Given the description of an element on the screen output the (x, y) to click on. 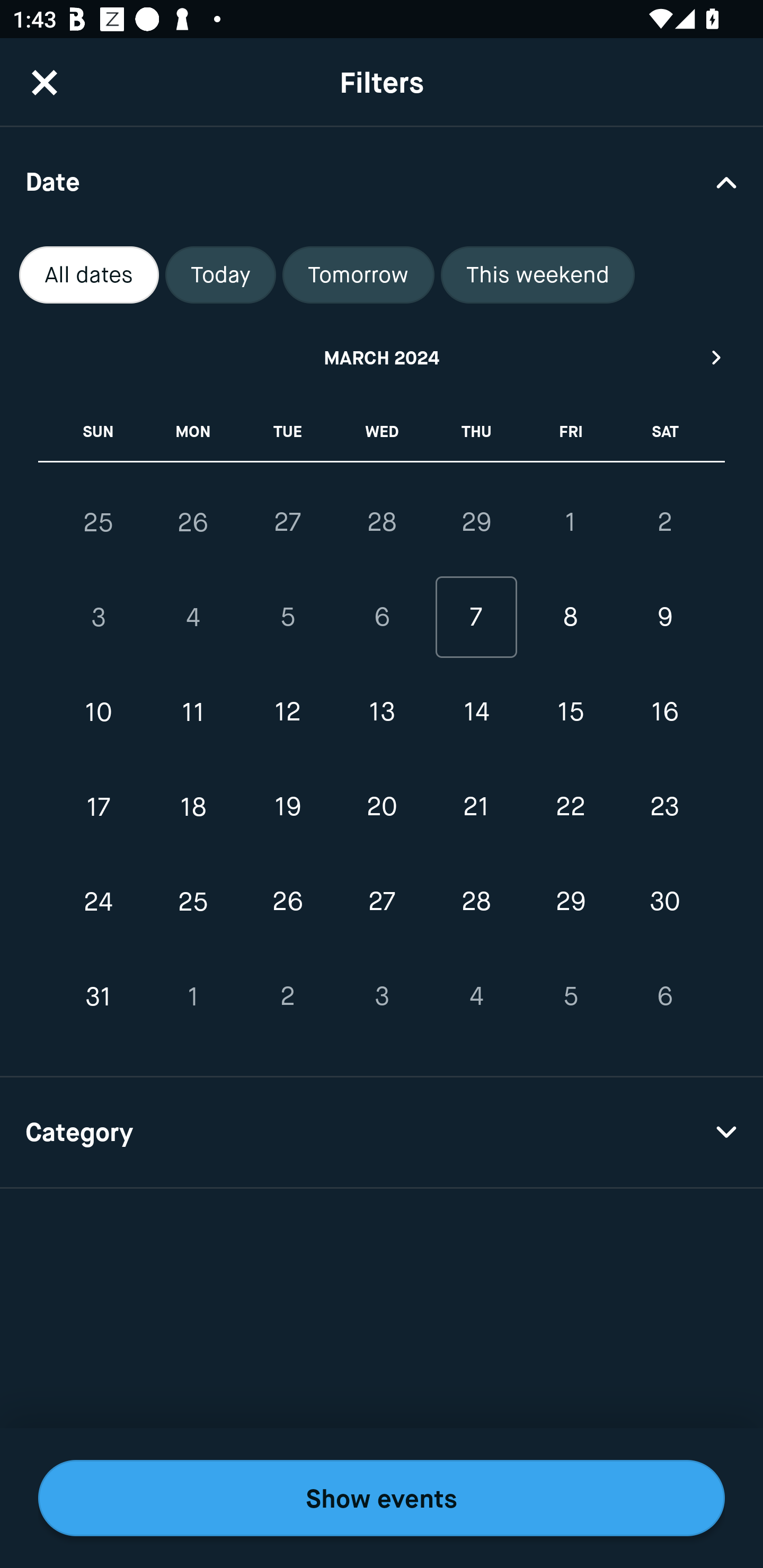
CloseButton (44, 82)
Date Drop Down Arrow (381, 181)
All dates (88, 274)
Today (220, 274)
Tomorrow (358, 274)
This weekend (537, 274)
Next (717, 357)
25 (98, 522)
26 (192, 522)
27 (287, 522)
28 (381, 522)
29 (475, 522)
1 (570, 522)
2 (664, 522)
3 (98, 617)
4 (192, 617)
5 (287, 617)
6 (381, 617)
7 (475, 617)
8 (570, 617)
9 (664, 617)
10 (98, 711)
11 (192, 711)
12 (287, 711)
13 (381, 711)
14 (475, 711)
15 (570, 711)
16 (664, 711)
17 (98, 806)
18 (192, 806)
19 (287, 806)
20 (381, 806)
21 (475, 806)
22 (570, 806)
23 (664, 806)
24 (98, 901)
25 (192, 901)
26 (287, 901)
27 (381, 901)
28 (475, 901)
29 (570, 901)
30 (664, 901)
31 (98, 996)
1 (192, 996)
2 (287, 996)
3 (381, 996)
4 (475, 996)
5 (570, 996)
6 (664, 996)
Category Drop Down Arrow (381, 1132)
Show events (381, 1497)
